Given the description of an element on the screen output the (x, y) to click on. 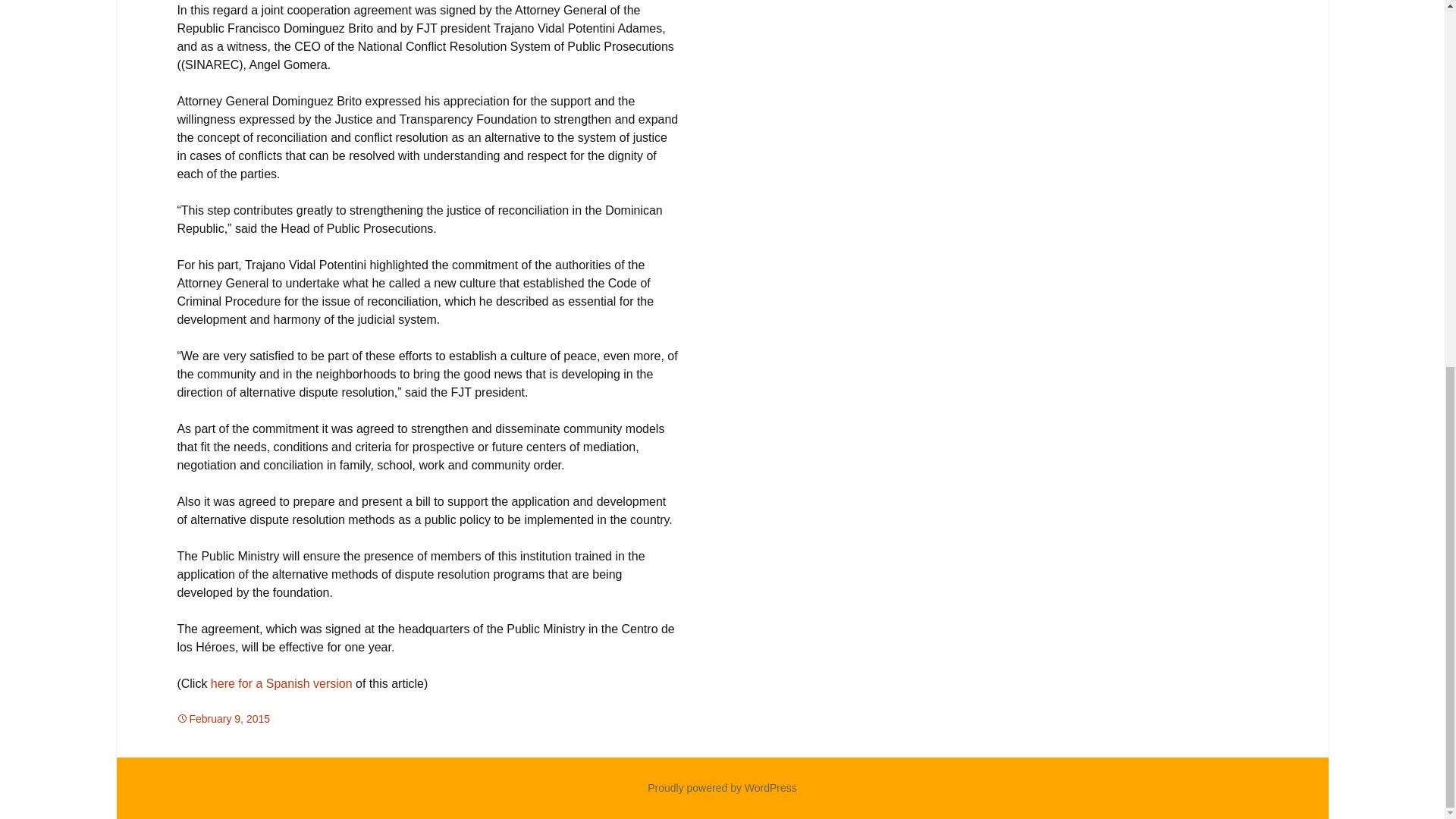
Semantic Personal Publishing Platform (721, 787)
DEMOCRATIC PARTICIPATION (367, 718)
here for a Spanish version (281, 683)
Latin America (323, 718)
Latin America (487, 718)
Proudly powered by WordPress (721, 787)
February 9, 2015 (222, 718)
